Given the description of an element on the screen output the (x, y) to click on. 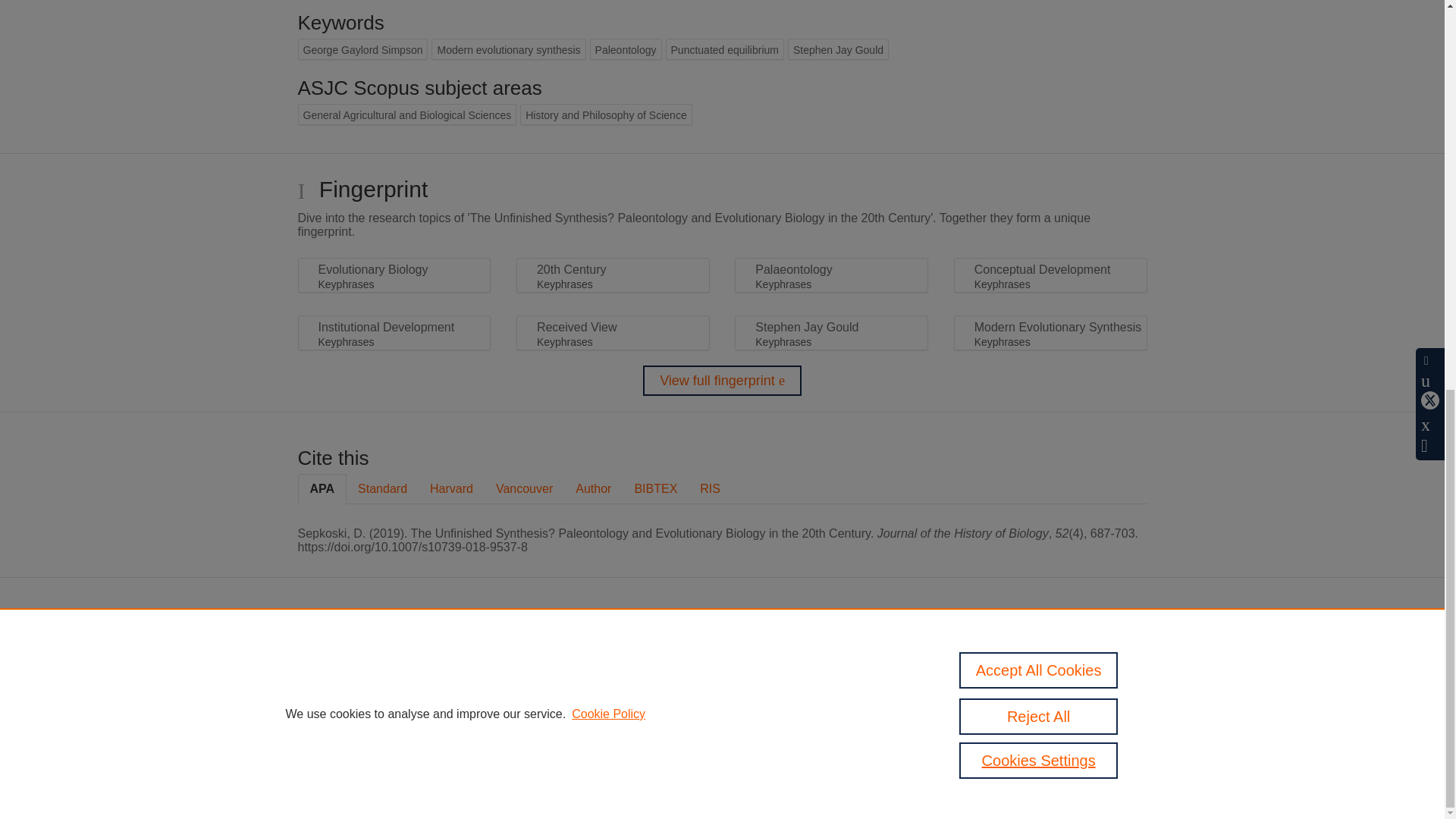
Pure (620, 653)
View full fingerprint (722, 380)
